Given the description of an element on the screen output the (x, y) to click on. 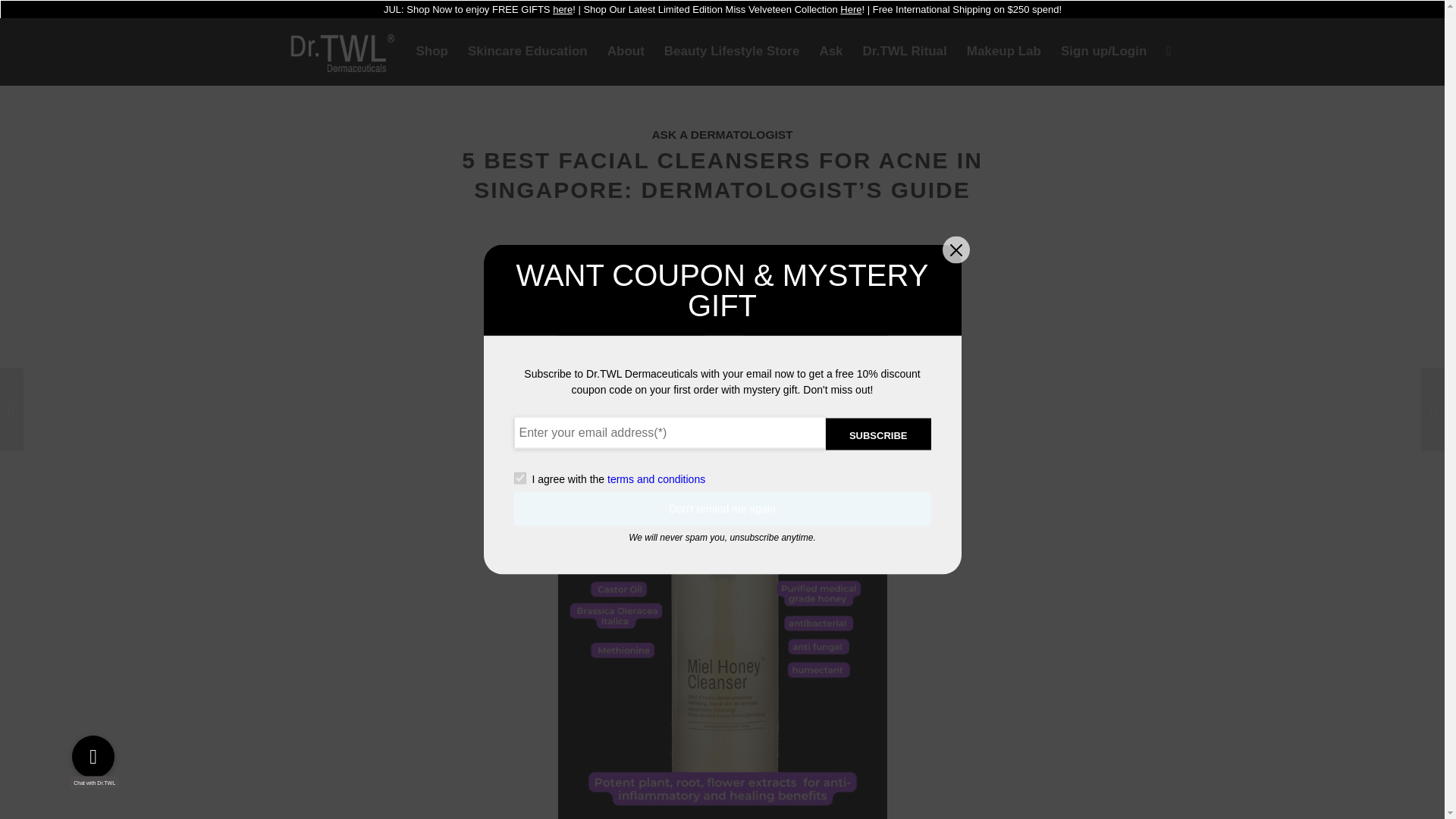
JUL: Shop Now to enjoy FREE GIFTS here! (479, 9)
on (519, 478)
